Given the description of an element on the screen output the (x, y) to click on. 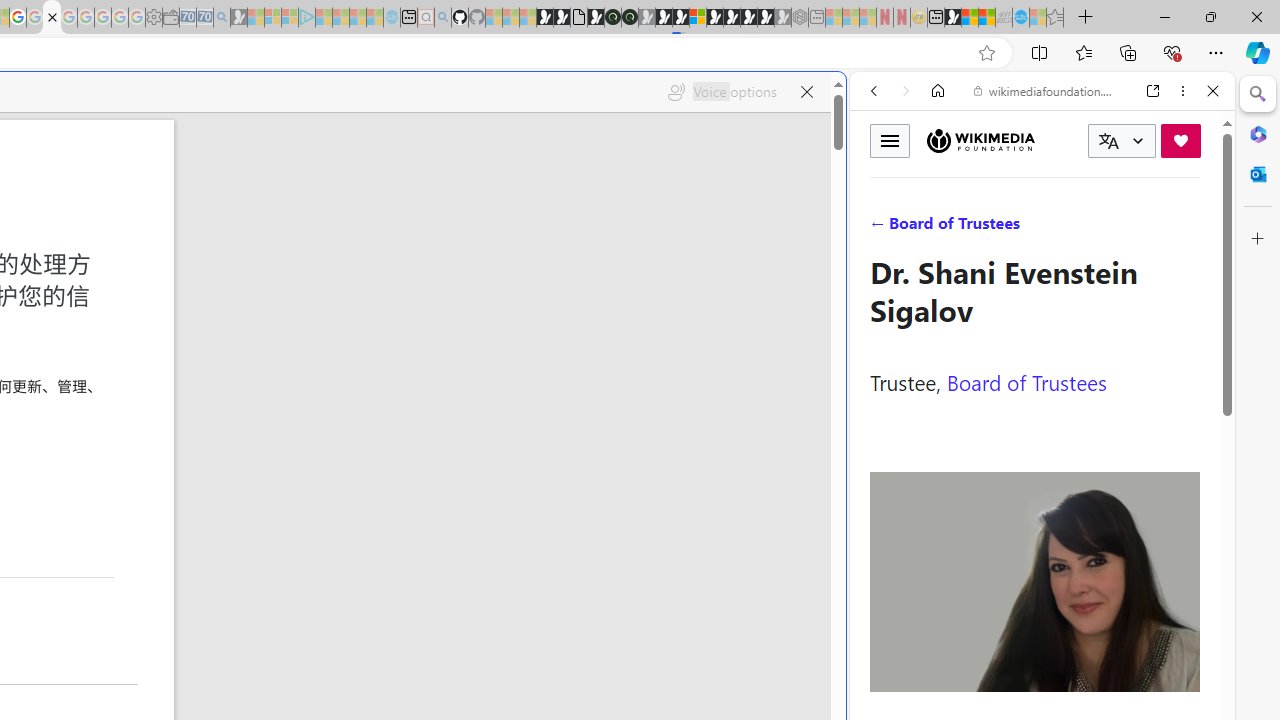
New tab (936, 17)
Restore (1210, 16)
MSN (952, 17)
Board of Trustees (1026, 381)
Search the web (1051, 137)
Home (938, 91)
Search or enter web address (343, 191)
wikimediafoundation.org (1045, 90)
